Given the description of an element on the screen output the (x, y) to click on. 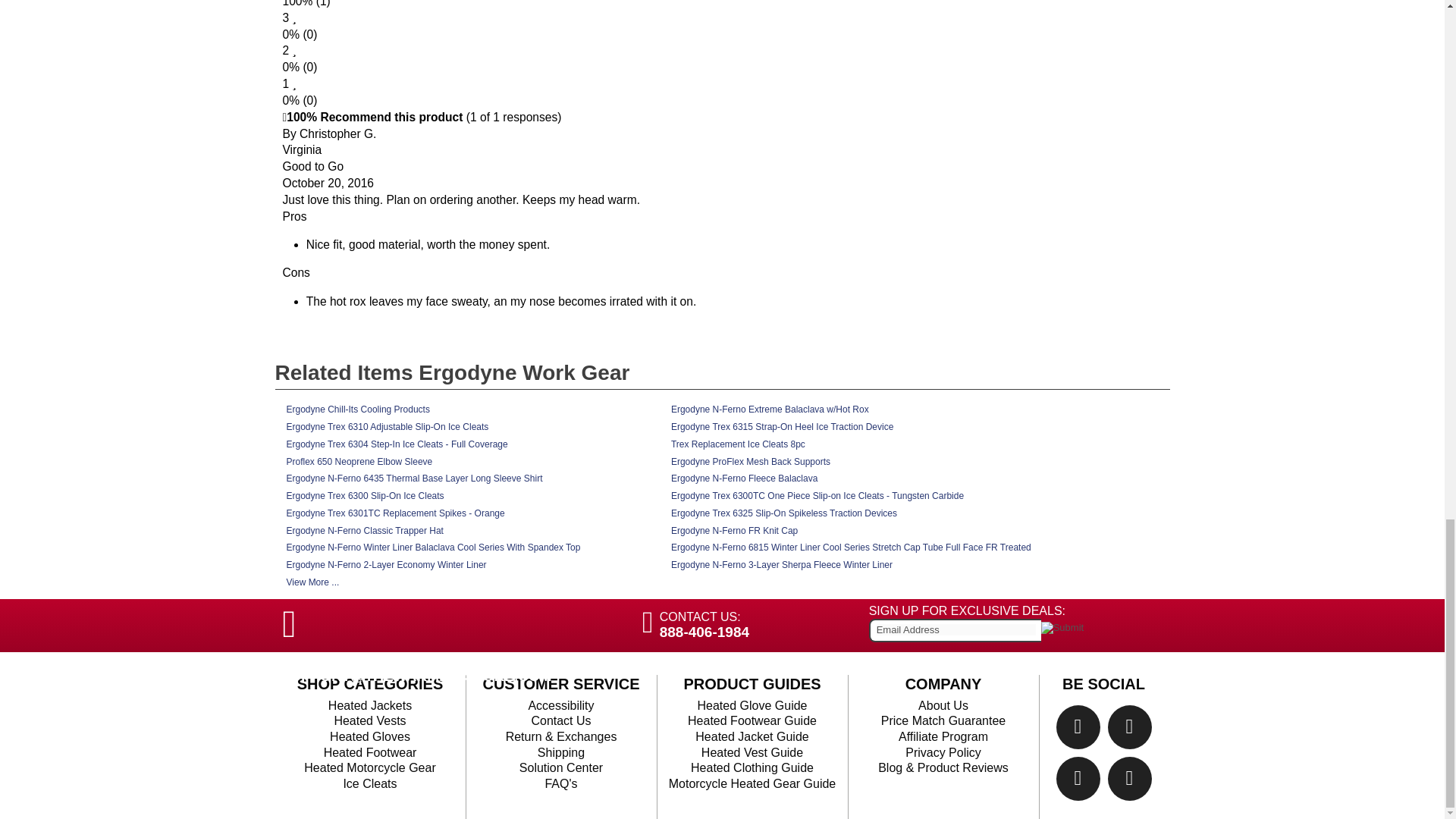
Submit (1062, 627)
Email Address (955, 629)
Go (1062, 627)
